Given the description of an element on the screen output the (x, y) to click on. 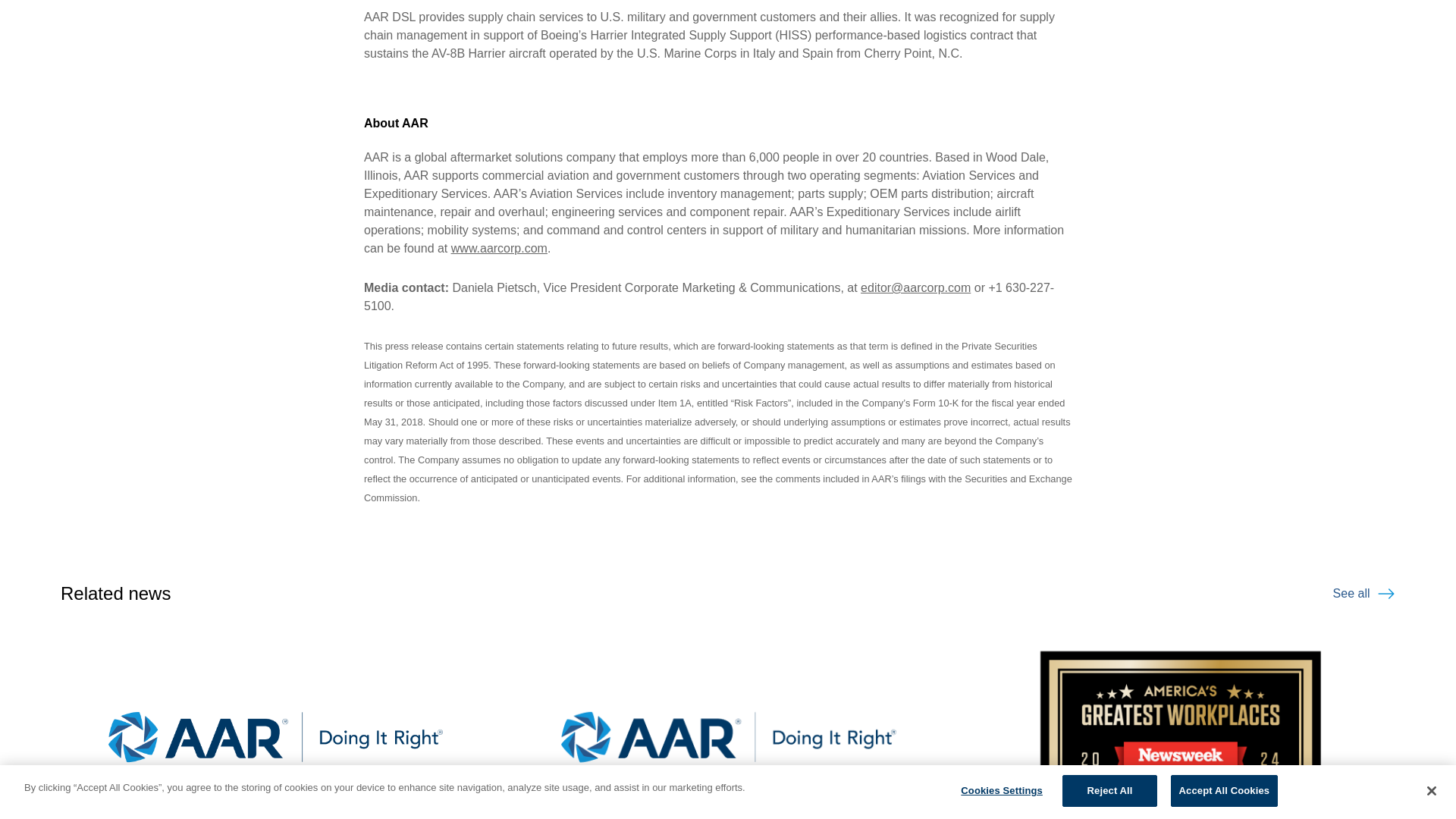
AAR news logo (275, 719)
AAR Doing It Right logo (727, 719)
